Given the description of an element on the screen output the (x, y) to click on. 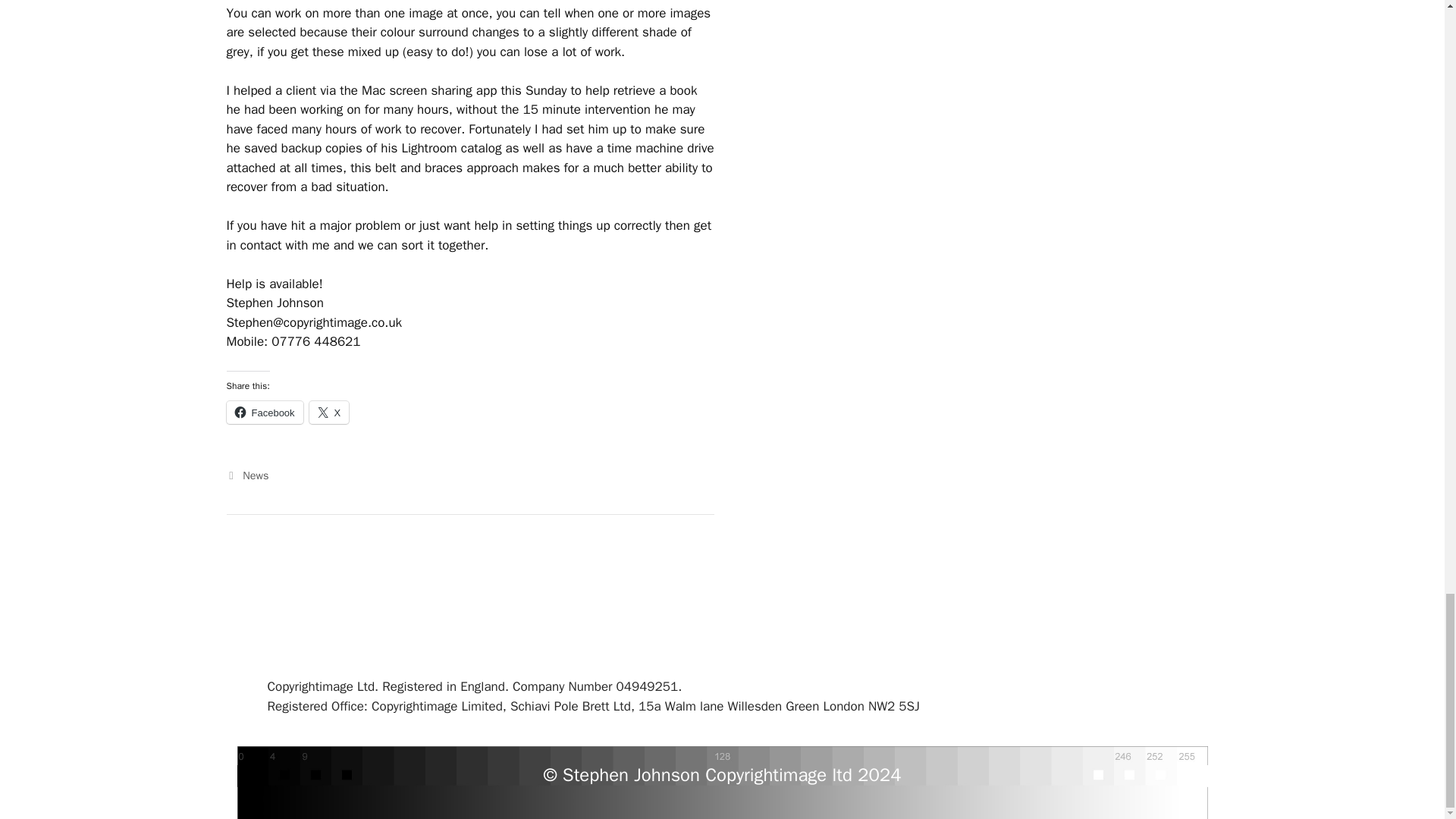
X (328, 412)
Click to share on X (328, 412)
Click to share on Facebook (263, 412)
Facebook (263, 412)
News (255, 475)
